Given the description of an element on the screen output the (x, y) to click on. 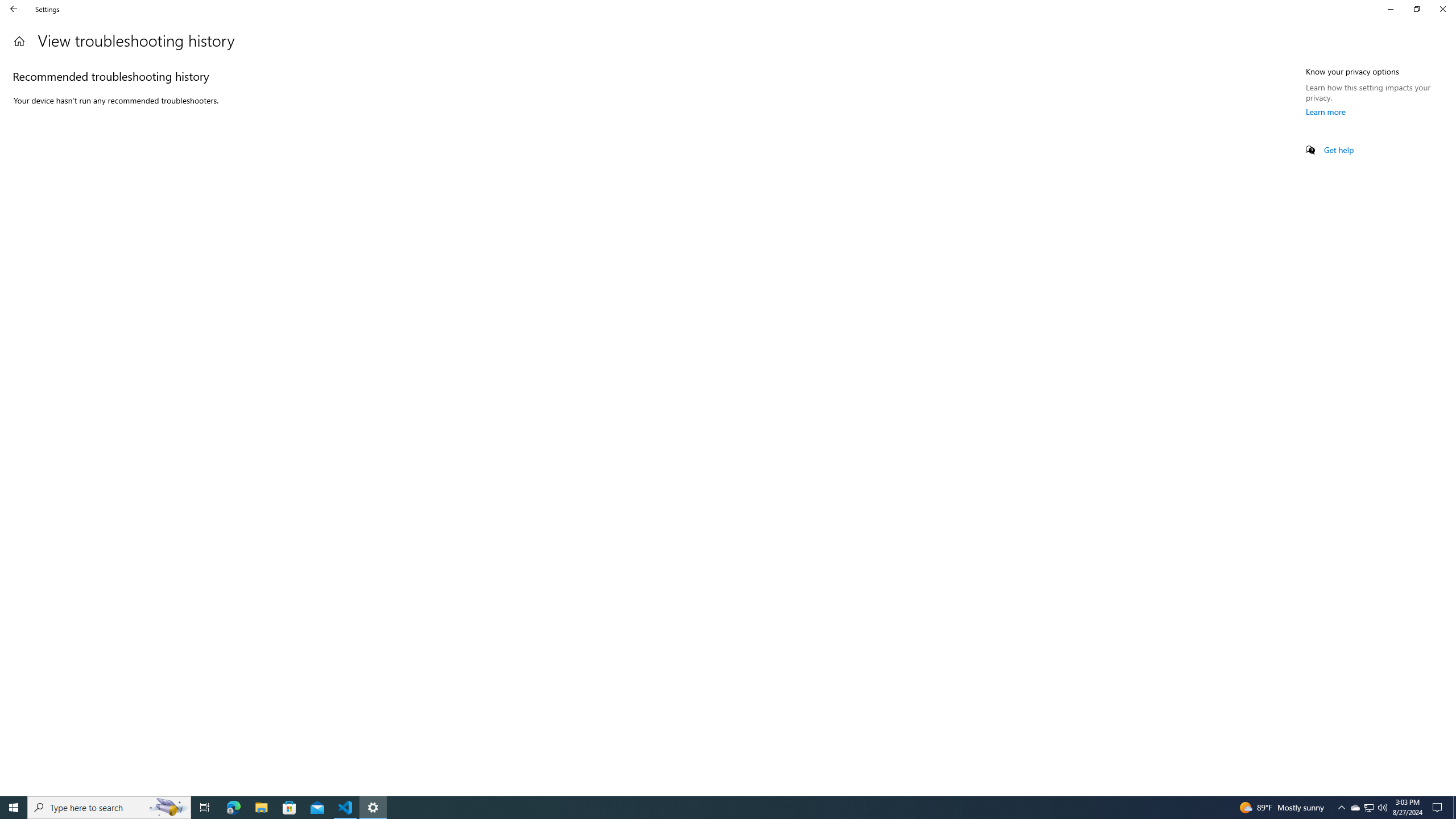
Running applications (717, 807)
Back (13, 9)
Settings - 1 running window (373, 807)
Restore Settings (1416, 9)
Minimize Settings (1390, 9)
